Given the description of an element on the screen output the (x, y) to click on. 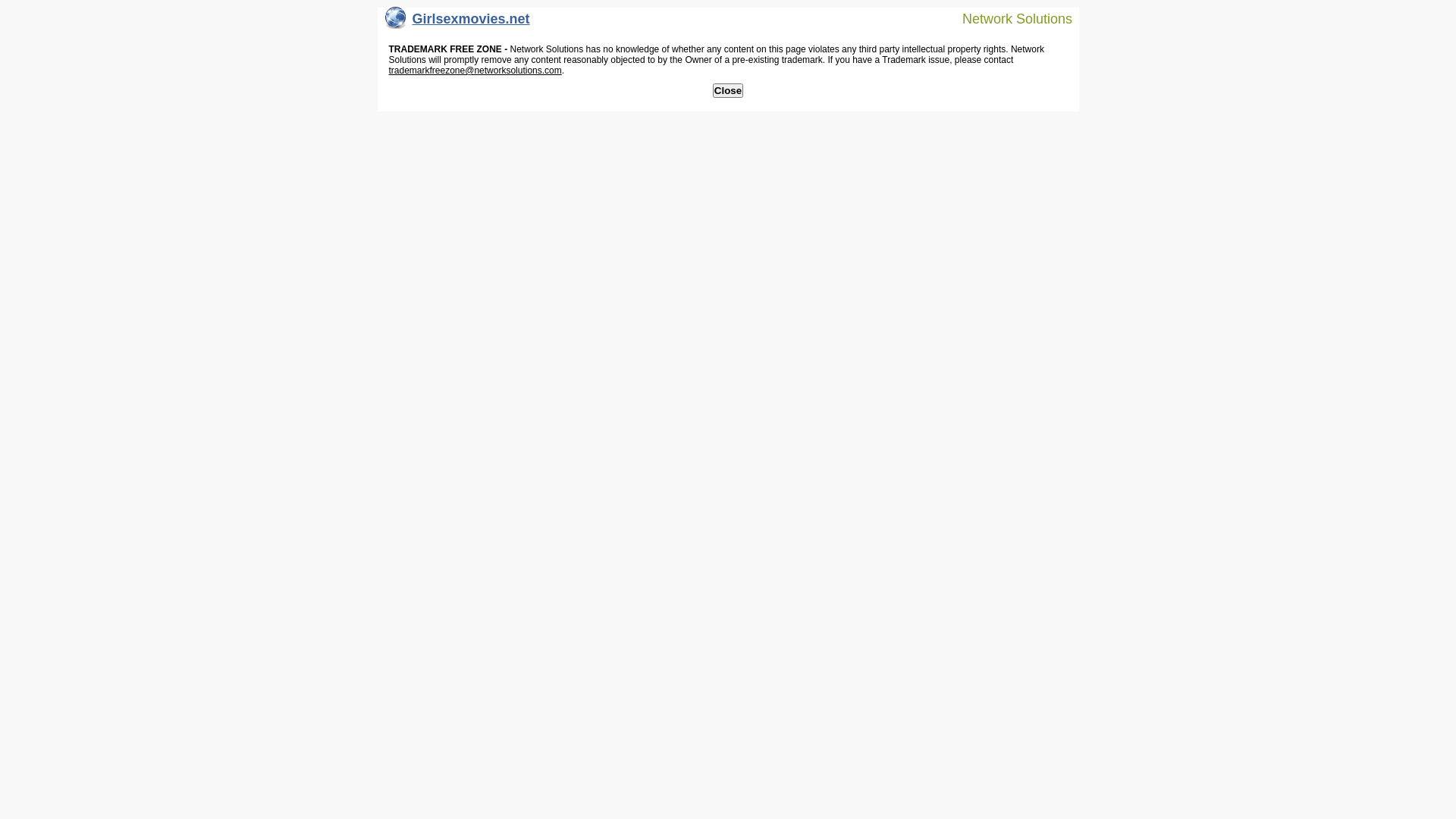
Girlsexmovies.net Element type: text (457, 21)
Network Solutions Element type: text (1007, 17)
Close Element type: text (727, 90)
trademarkfreezone@networksolutions.com Element type: text (474, 70)
